Given the description of an element on the screen output the (x, y) to click on. 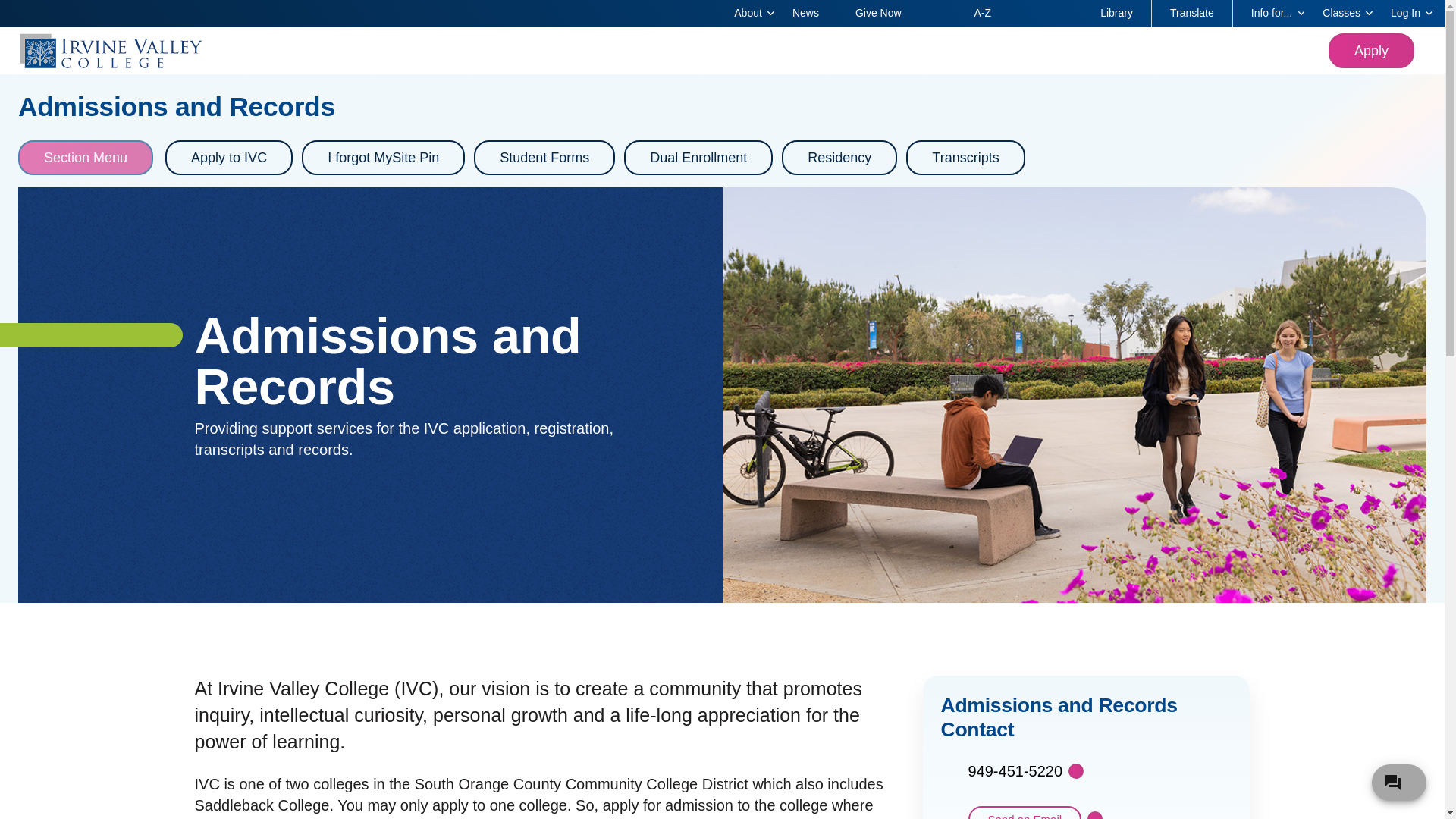
News (805, 13)
A-Z (983, 13)
Info for... (1268, 13)
Library (1116, 13)
Log In (1402, 13)
Calendar (1063, 6)
Give Now (878, 13)
Apply (1370, 50)
About (745, 13)
Translate (1192, 13)
Directory (938, 6)
Home (648, 50)
Classes (1338, 13)
Maps (1027, 6)
